Given the description of an element on the screen output the (x, y) to click on. 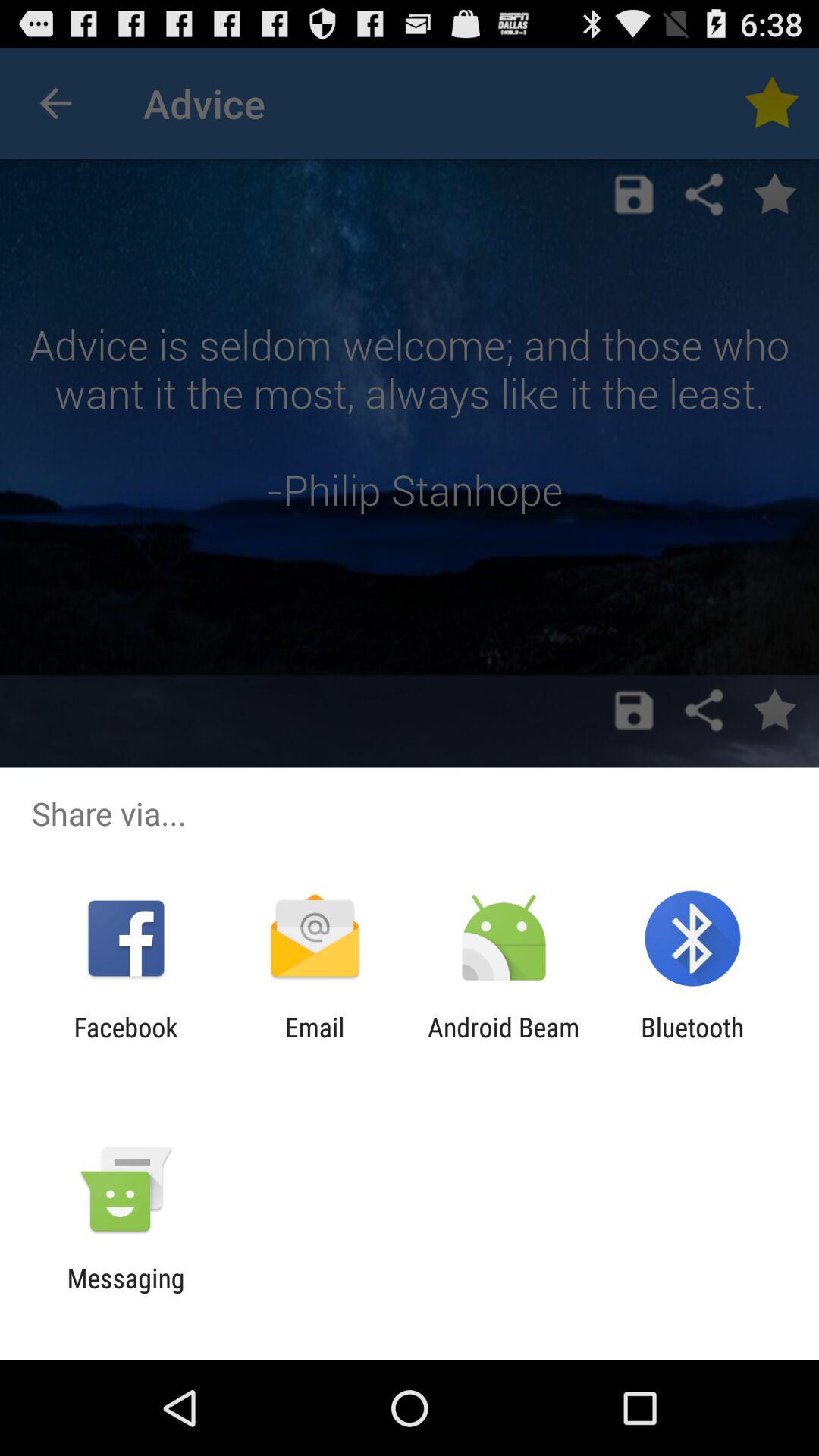
turn on the app to the left of bluetooth app (503, 1042)
